Given the description of an element on the screen output the (x, y) to click on. 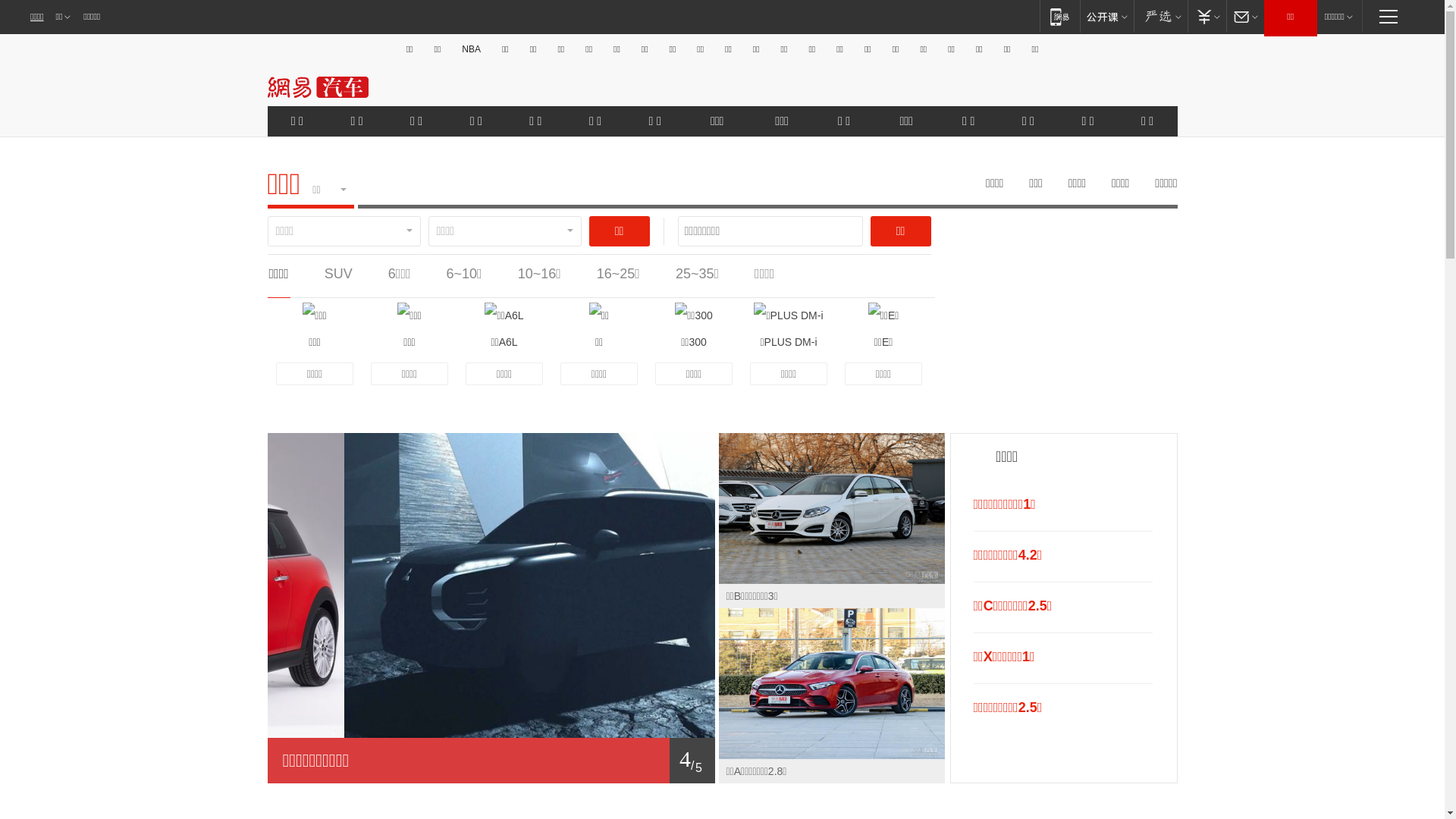
SUV Element type: text (338, 273)
NBA Element type: text (471, 48)
1/ 5 Element type: text (490, 760)
